Given the description of an element on the screen output the (x, y) to click on. 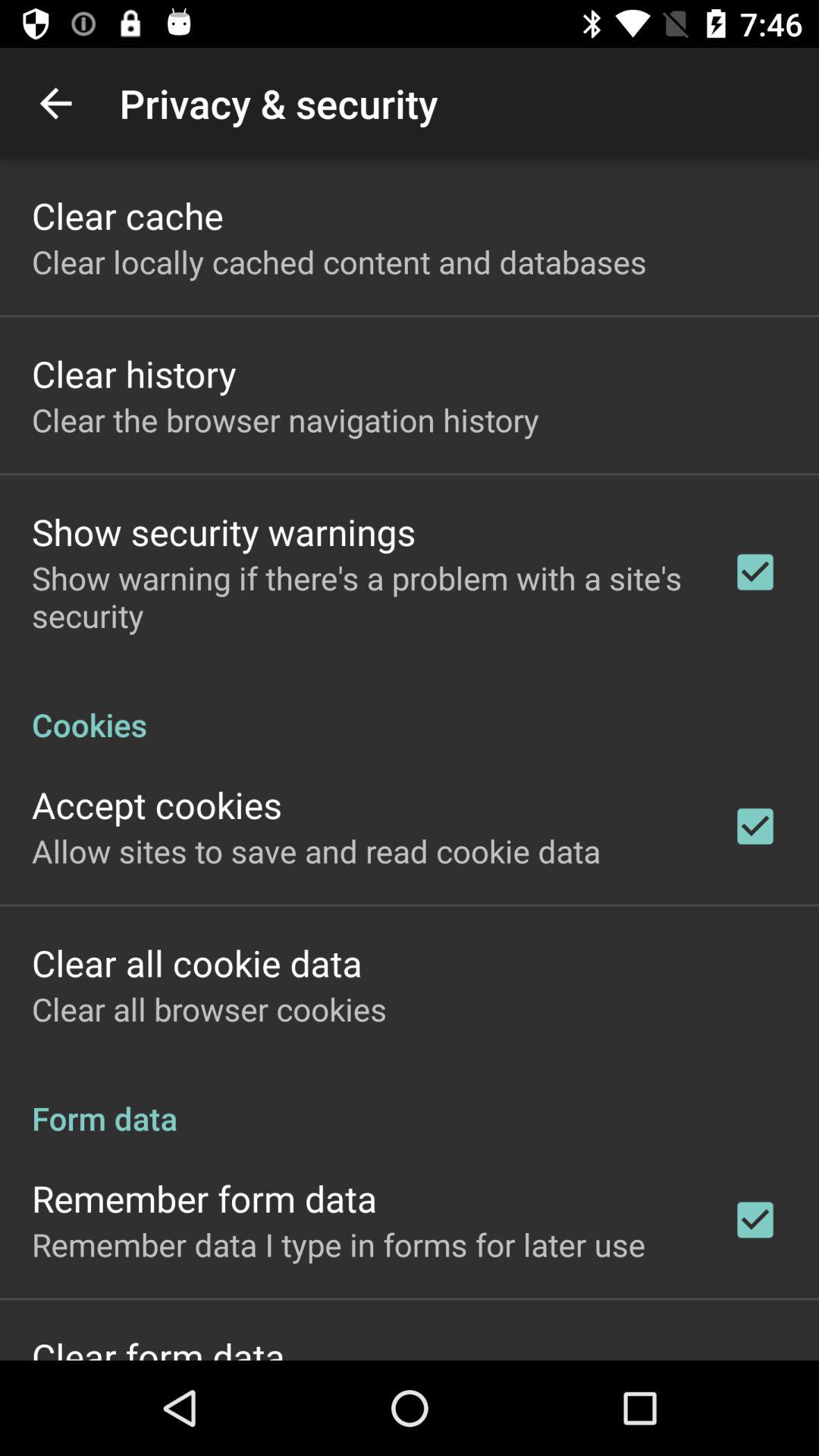
tap icon above the clear cache item (55, 103)
